Given the description of an element on the screen output the (x, y) to click on. 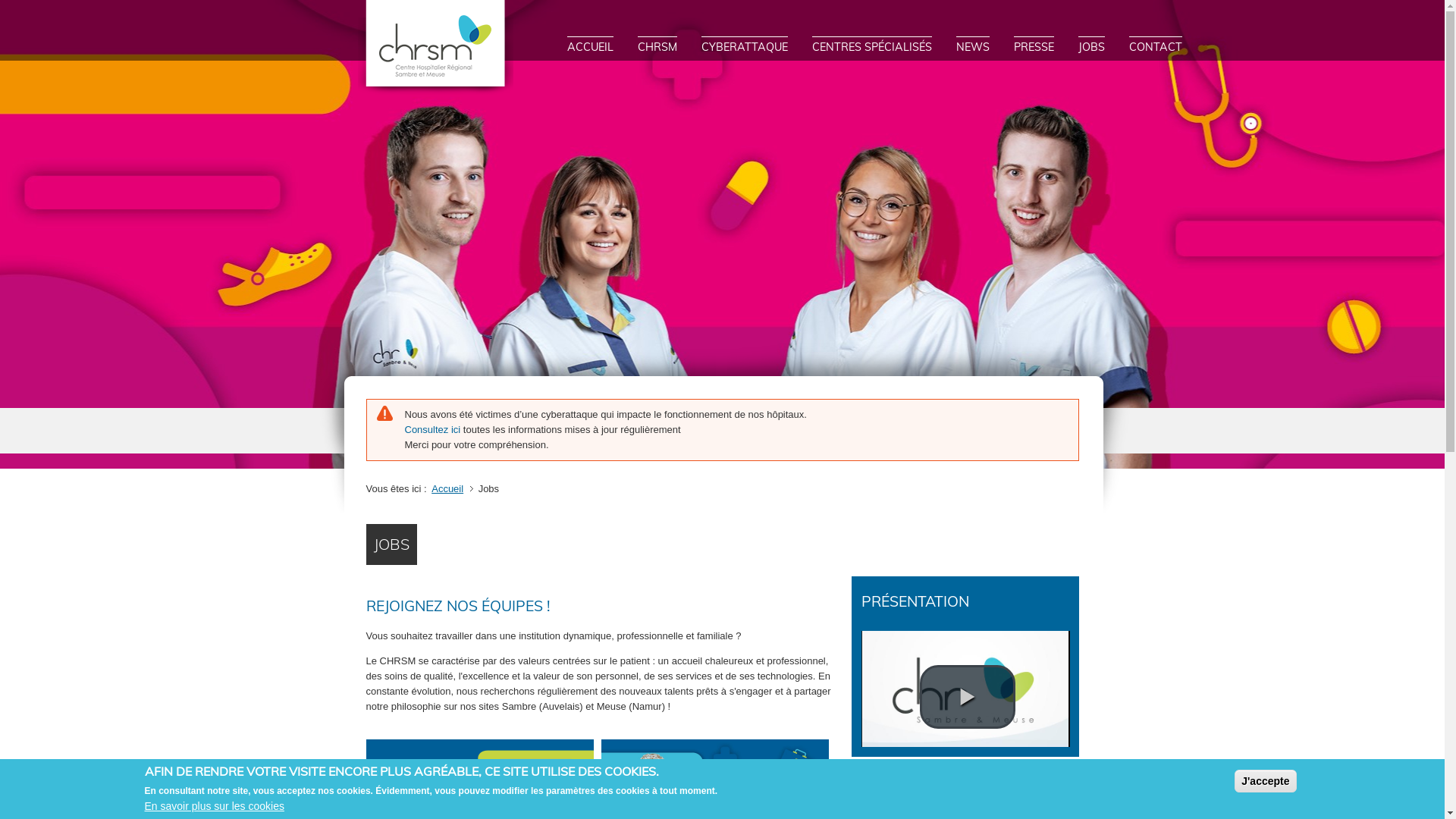
CHRSM Element type: text (656, 50)
Accueil Element type: text (449, 488)
ACCUEIL Element type: text (590, 50)
Consultez ici Element type: text (432, 429)
En savoir plus sur les cookies Element type: text (213, 806)
J'accepte Element type: text (1264, 780)
PRESSE Element type: text (1033, 50)
NEWS Element type: text (971, 50)
JOBS Element type: text (1091, 50)
CYBERATTAQUE Element type: text (743, 50)
CONTACT Element type: text (1154, 50)
